Given the description of an element on the screen output the (x, y) to click on. 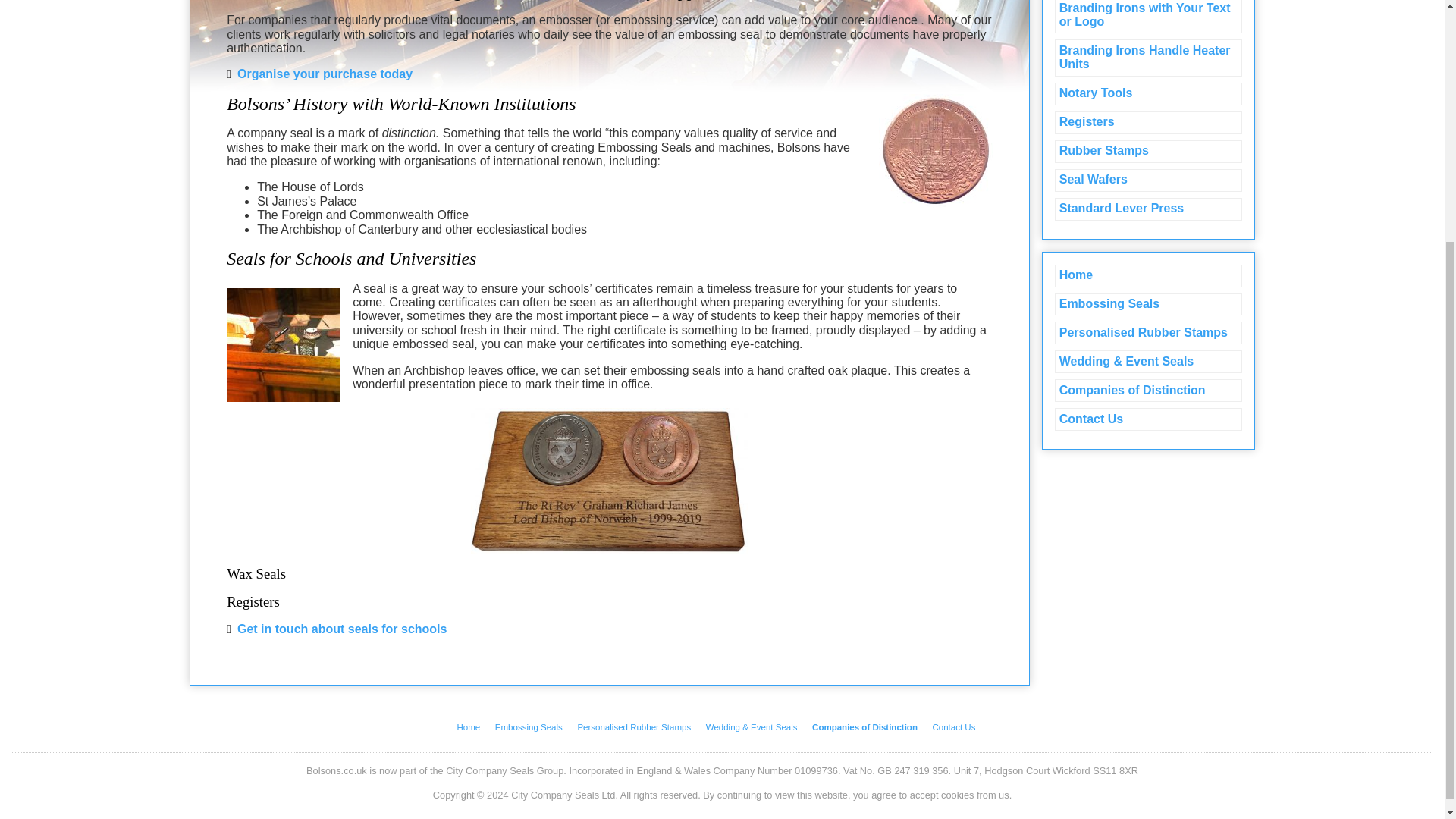
Registers (1147, 122)
Home (475, 727)
Personalised Rubber Stamps (639, 727)
Organise your purchase today (319, 73)
Contact Us (959, 727)
Standard Lever Press (1147, 209)
Home (1147, 275)
Notary Tools (1147, 93)
Branding Irons Handle Heater Units (1147, 57)
Contact Us (1147, 418)
